Given the description of an element on the screen output the (x, y) to click on. 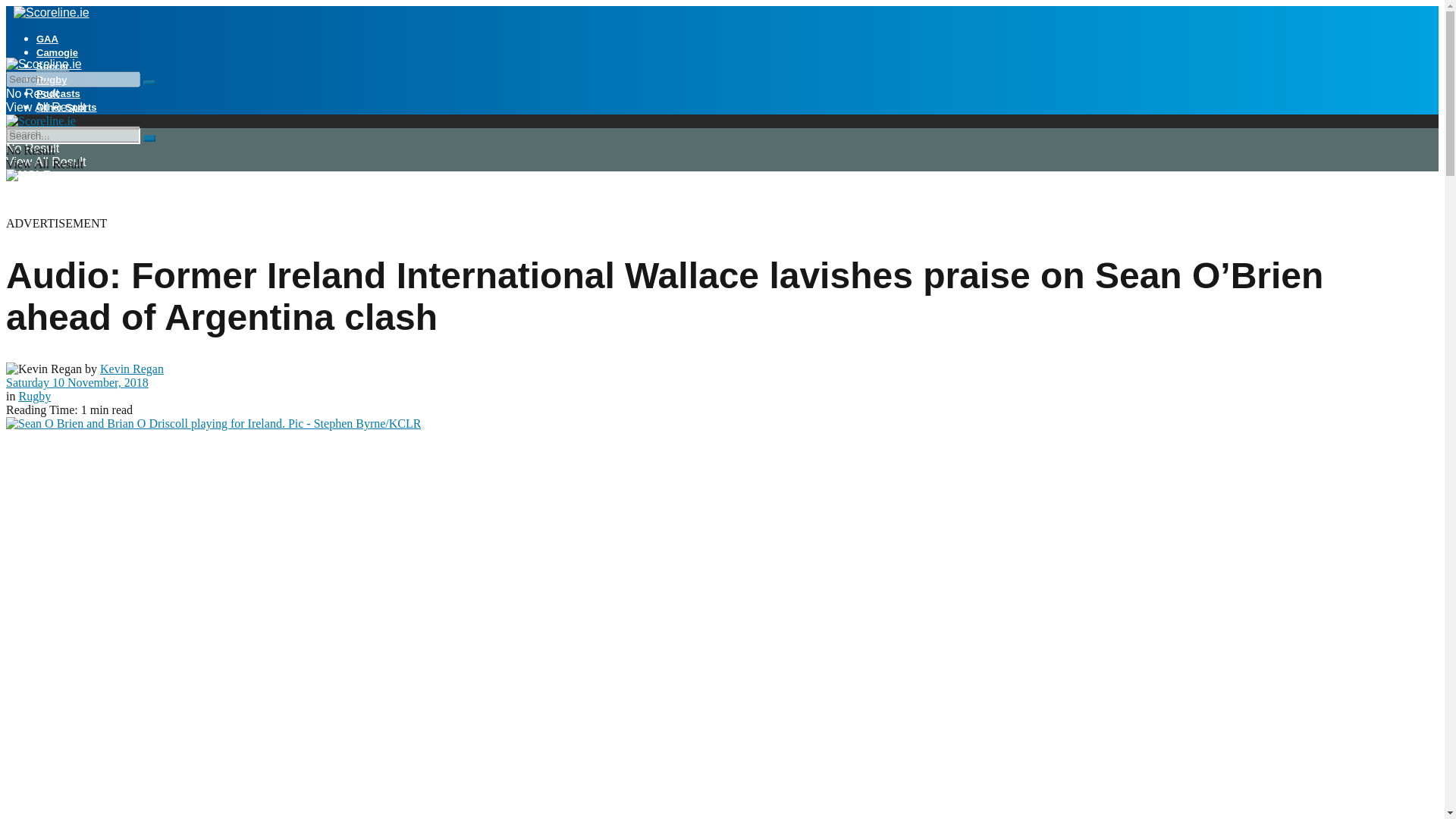
Podcasts (58, 93)
Rugby (33, 395)
Camogie (57, 52)
GAA (47, 39)
Soccer (52, 66)
Kevin Regan (131, 368)
Other Sports (66, 107)
Rugby (51, 79)
Saturday 10 November, 2018 (76, 382)
